Given the description of an element on the screen output the (x, y) to click on. 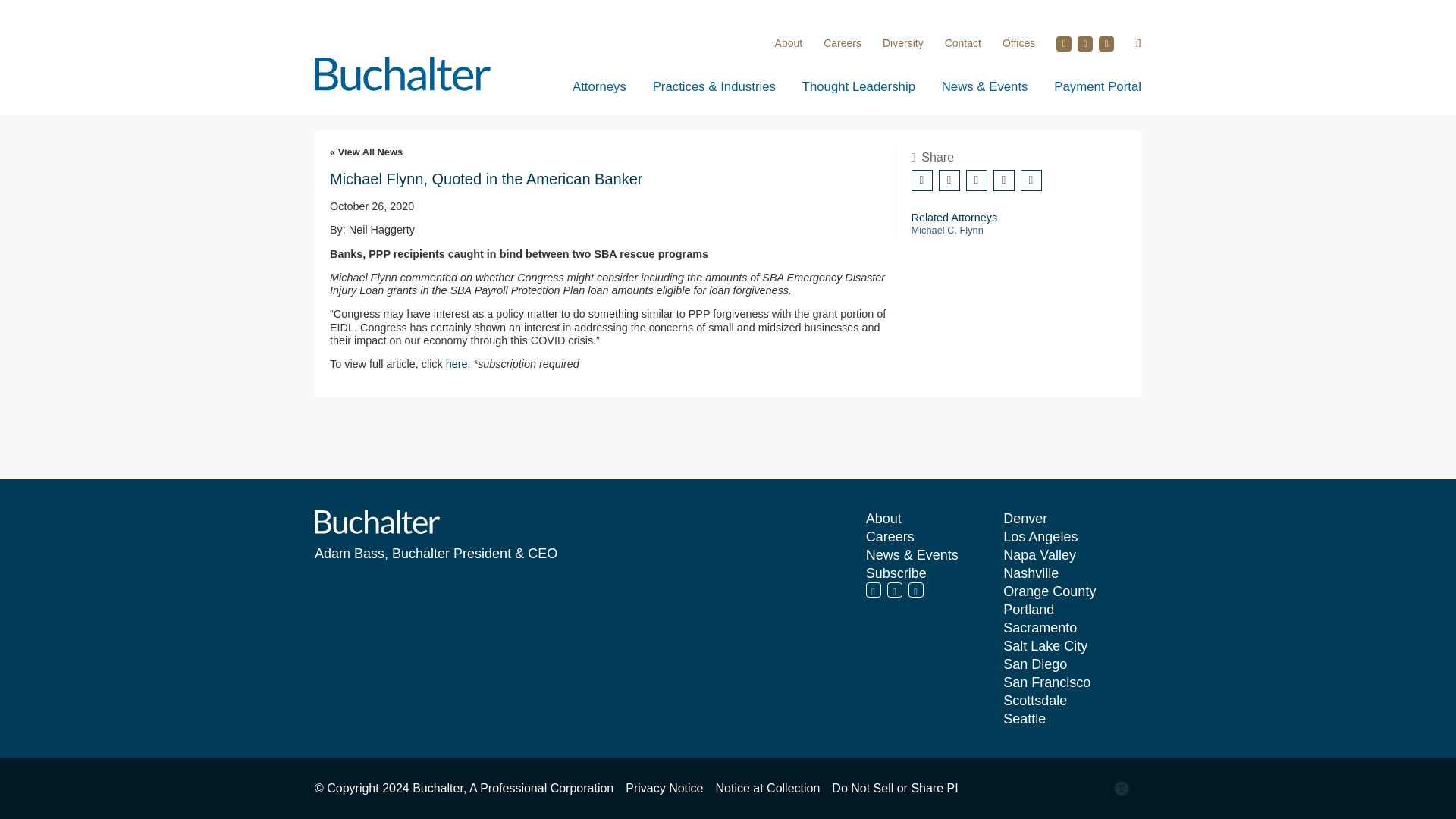
Diversity (902, 42)
Thought Leadership (858, 86)
Careers (842, 42)
About (788, 42)
Offices (1019, 42)
Attorneys (599, 86)
Contact (962, 42)
